Given the description of an element on the screen output the (x, y) to click on. 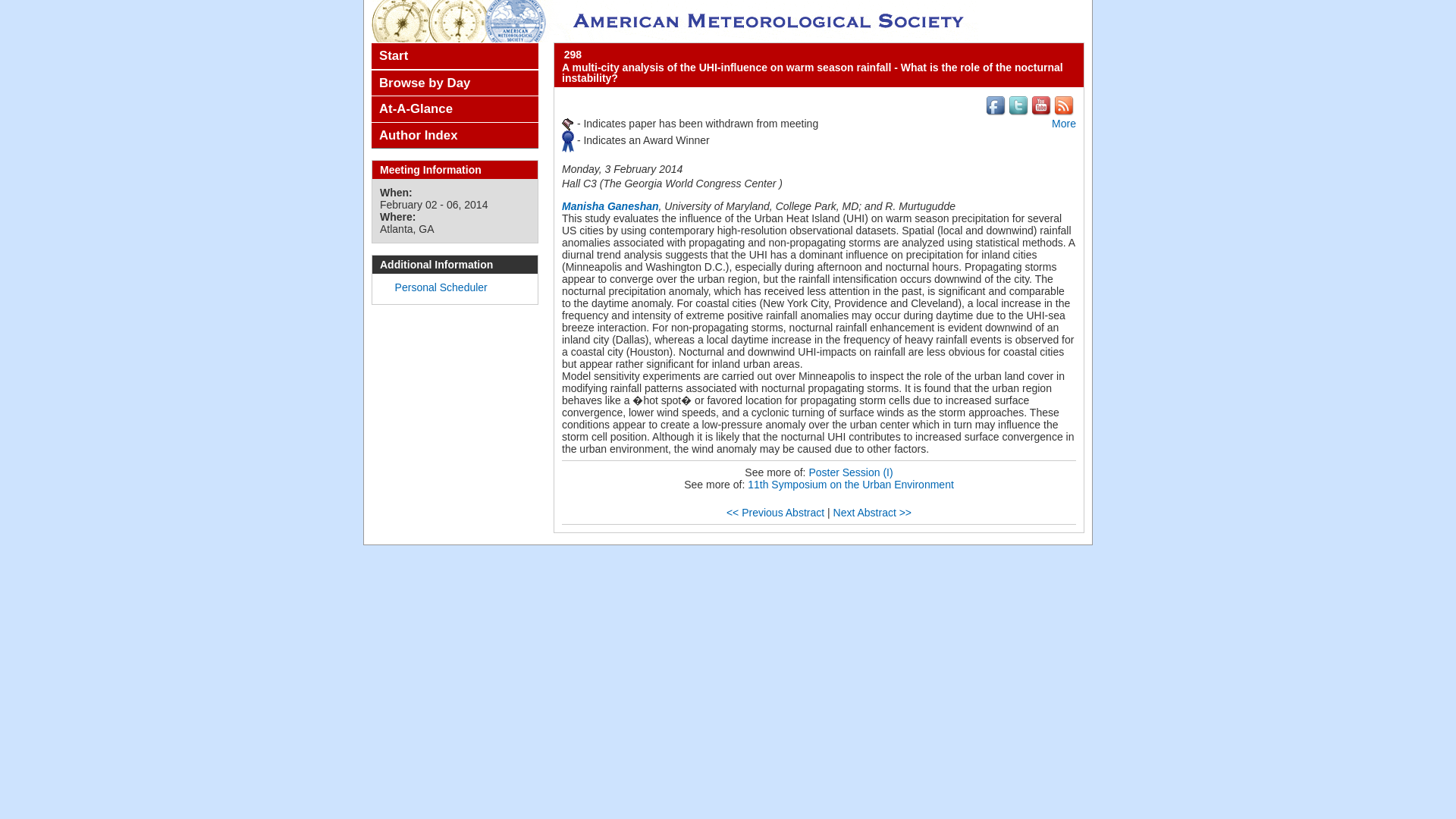
More (1063, 123)
Author Index (454, 135)
Start (454, 55)
At-A-Glance (454, 109)
11th Symposium on the Urban Environment (850, 484)
Manisha Ganeshan (610, 205)
Personal Scheduler (440, 287)
Browse by Day (454, 83)
